Given the description of an element on the screen output the (x, y) to click on. 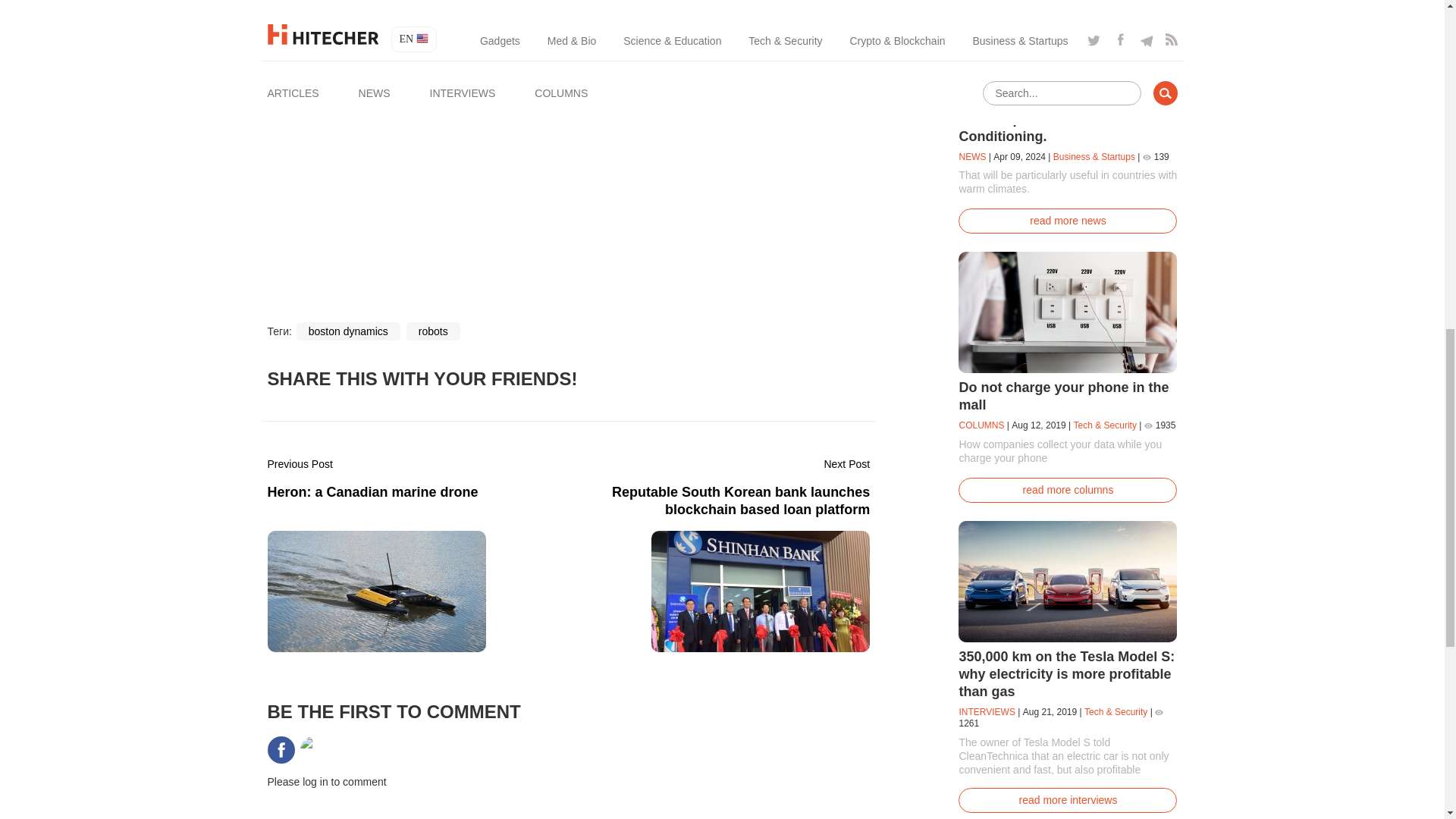
robots (433, 331)
Apr 09, 2024 (1018, 156)
boston dynamics (348, 331)
Aug 12, 2019 (1038, 425)
Aug 21, 2019 (408, 554)
